Given the description of an element on the screen output the (x, y) to click on. 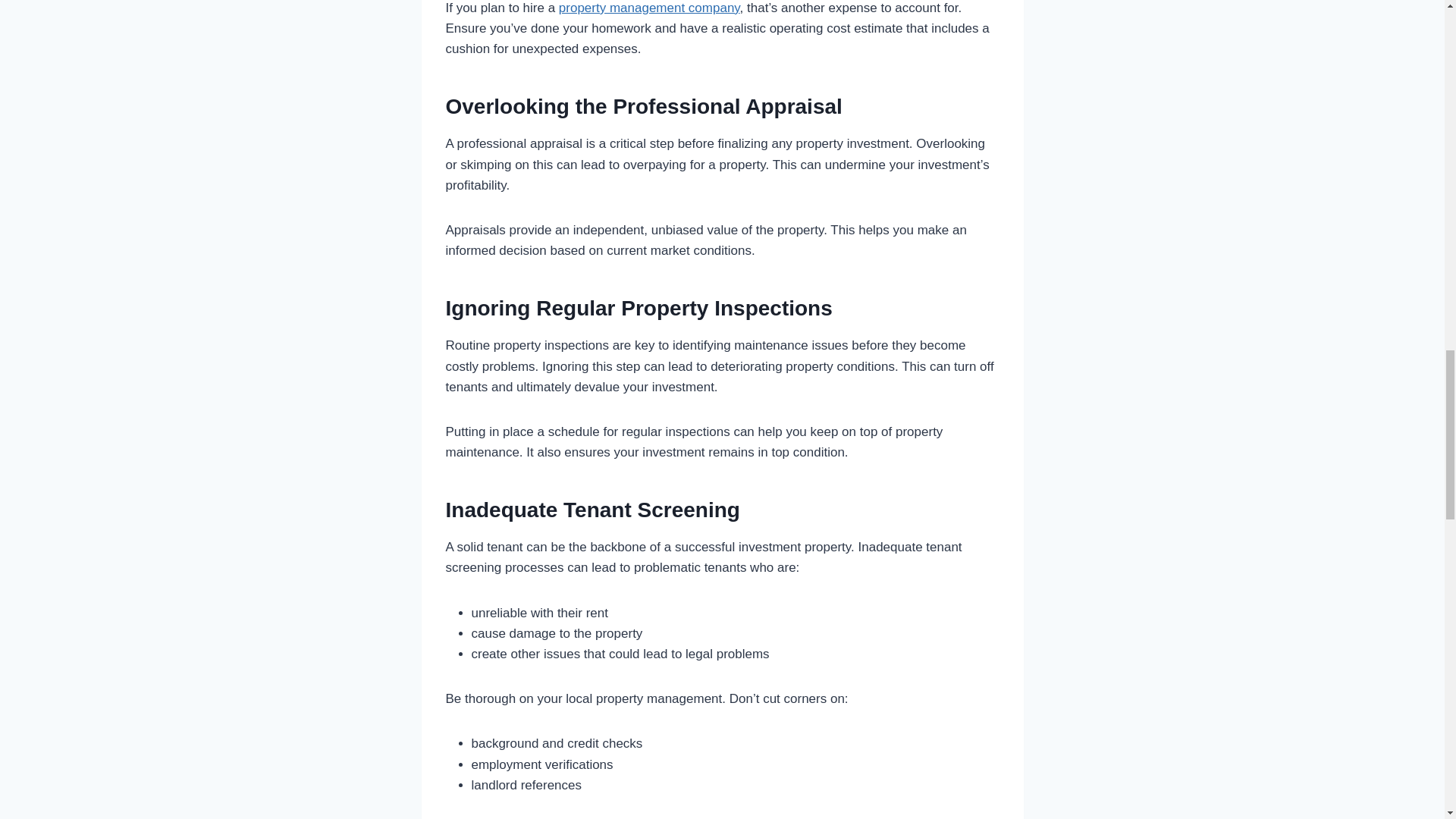
property management company (649, 7)
